Given the description of an element on the screen output the (x, y) to click on. 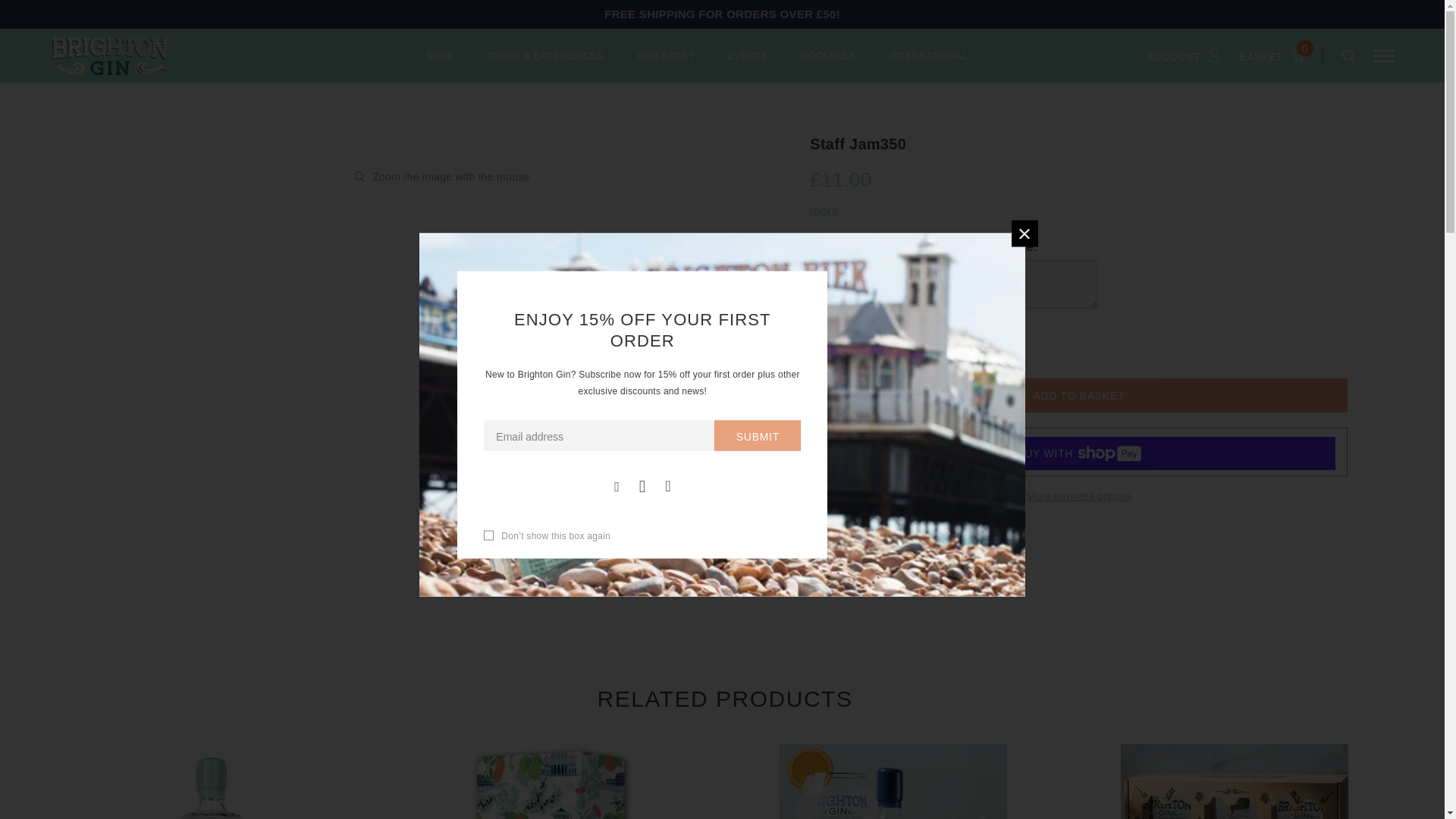
Logo (167, 55)
1 (868, 354)
Submit (757, 435)
ACCOUNT (1182, 54)
EVENTS (747, 64)
COCKTAILS (828, 64)
INTERNATIONAL (928, 64)
Cart (1276, 54)
Right Menu (1383, 55)
OUR STORY (665, 64)
Add to Basket (1078, 395)
